Given the description of an element on the screen output the (x, y) to click on. 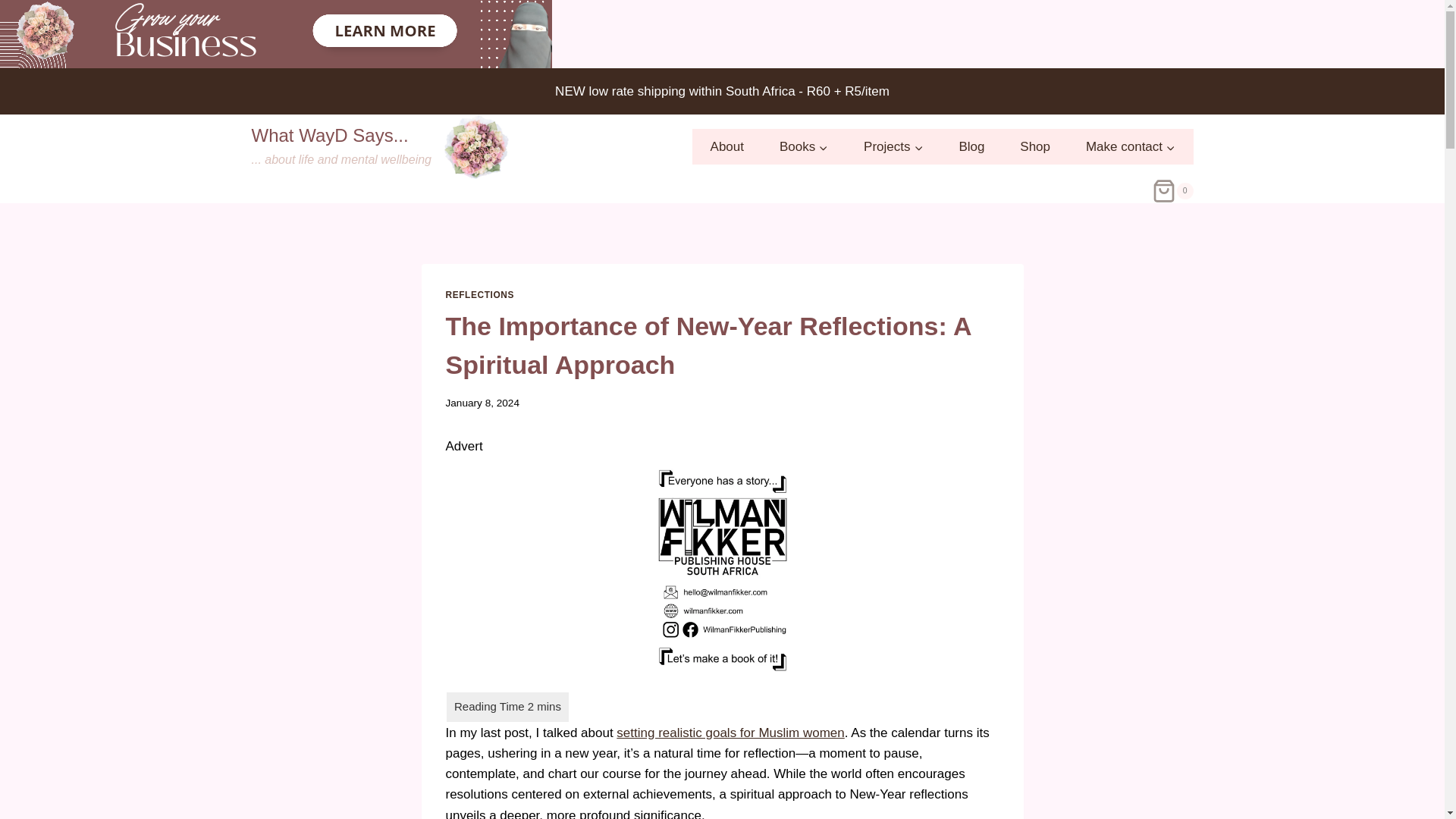
setting realistic goals for Muslim women (729, 732)
Shop (1035, 146)
Books (803, 146)
0 (1172, 191)
REFLECTIONS (379, 146)
Projects (479, 294)
Make contact (892, 146)
About (1129, 146)
Blog (727, 146)
